Given the description of an element on the screen output the (x, y) to click on. 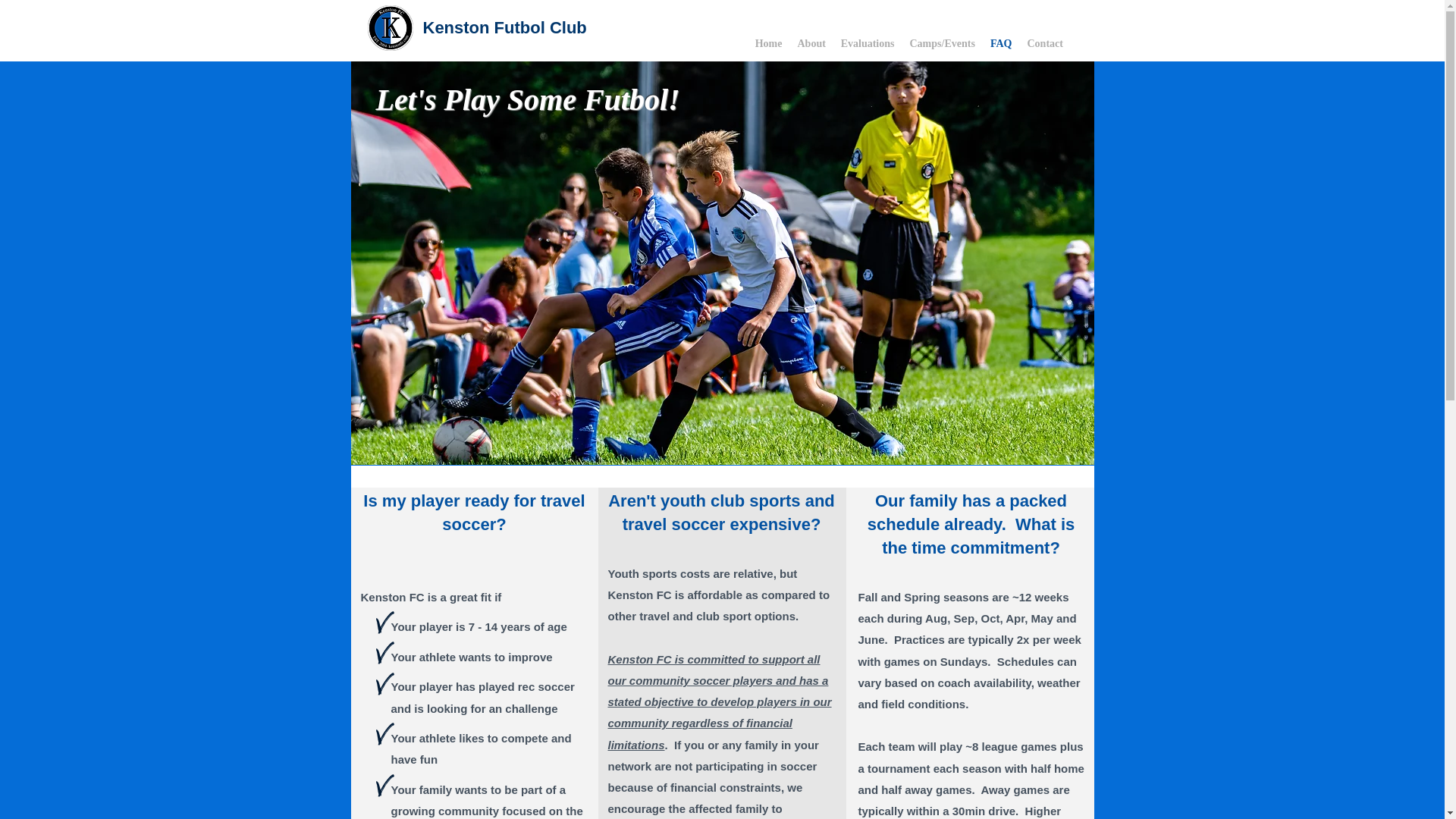
Contact (1044, 43)
Kenston Futbol Club (504, 27)
Home (769, 43)
About (811, 43)
FAQ (1001, 43)
Evaluations (866, 43)
